Given the description of an element on the screen output the (x, y) to click on. 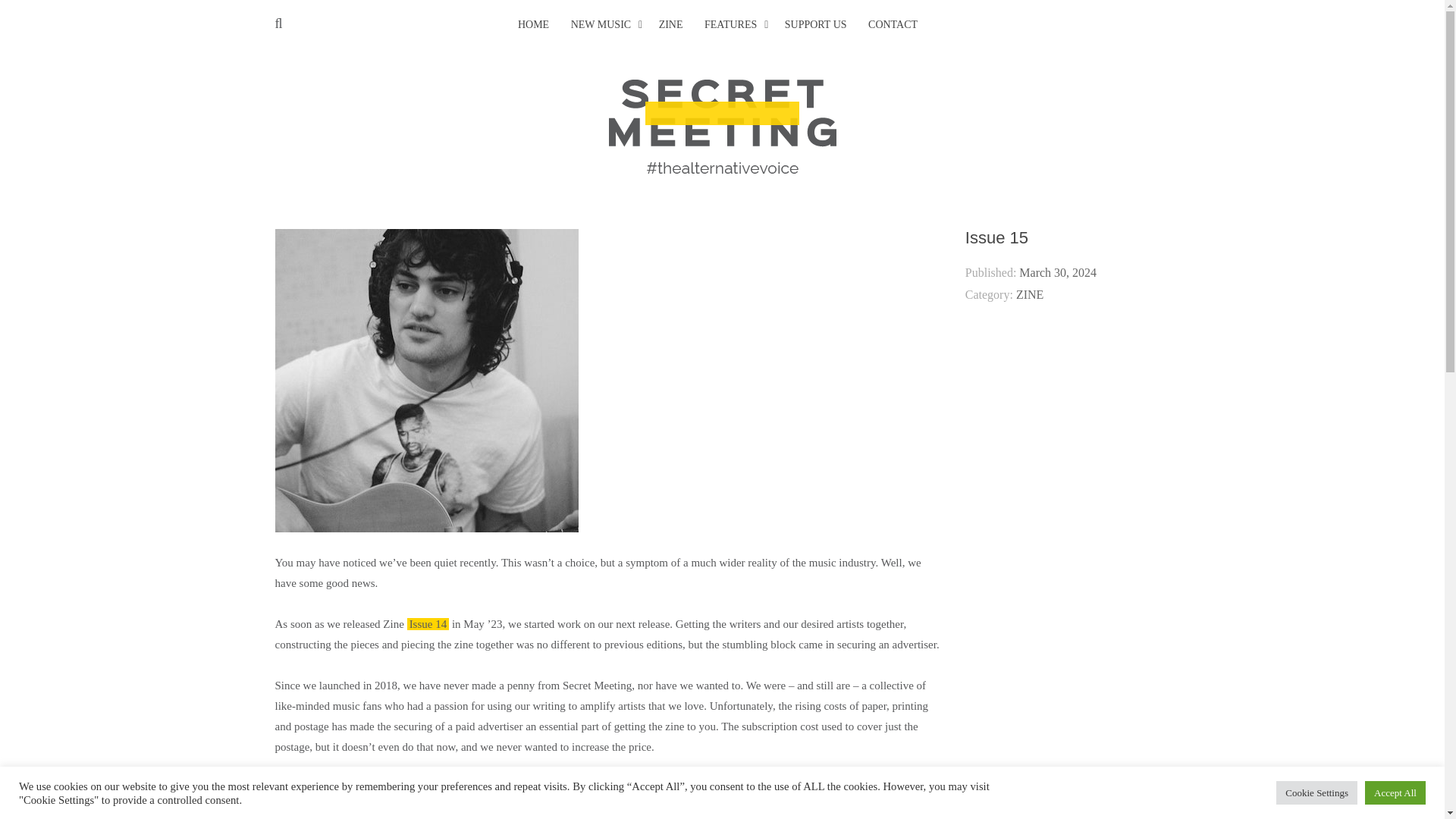
NEW MUSIC (600, 25)
HOME (533, 25)
ZINE (670, 25)
FEATURES (730, 25)
Issue 14 (428, 623)
CONTACT (892, 25)
SUPPORT US (815, 25)
